Given the description of an element on the screen output the (x, y) to click on. 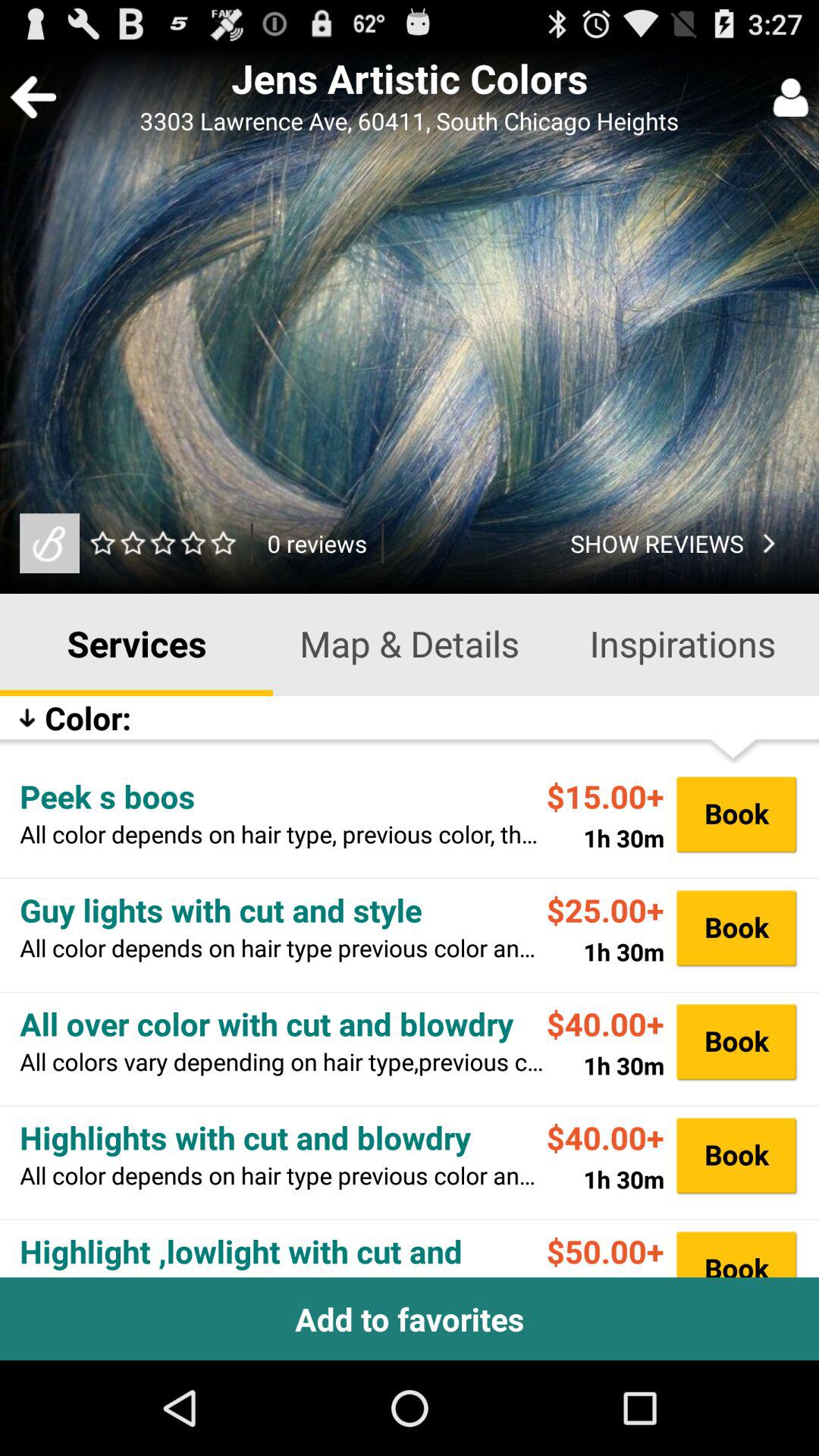
click on the previous arrow (33, 97)
